Given the description of an element on the screen output the (x, y) to click on. 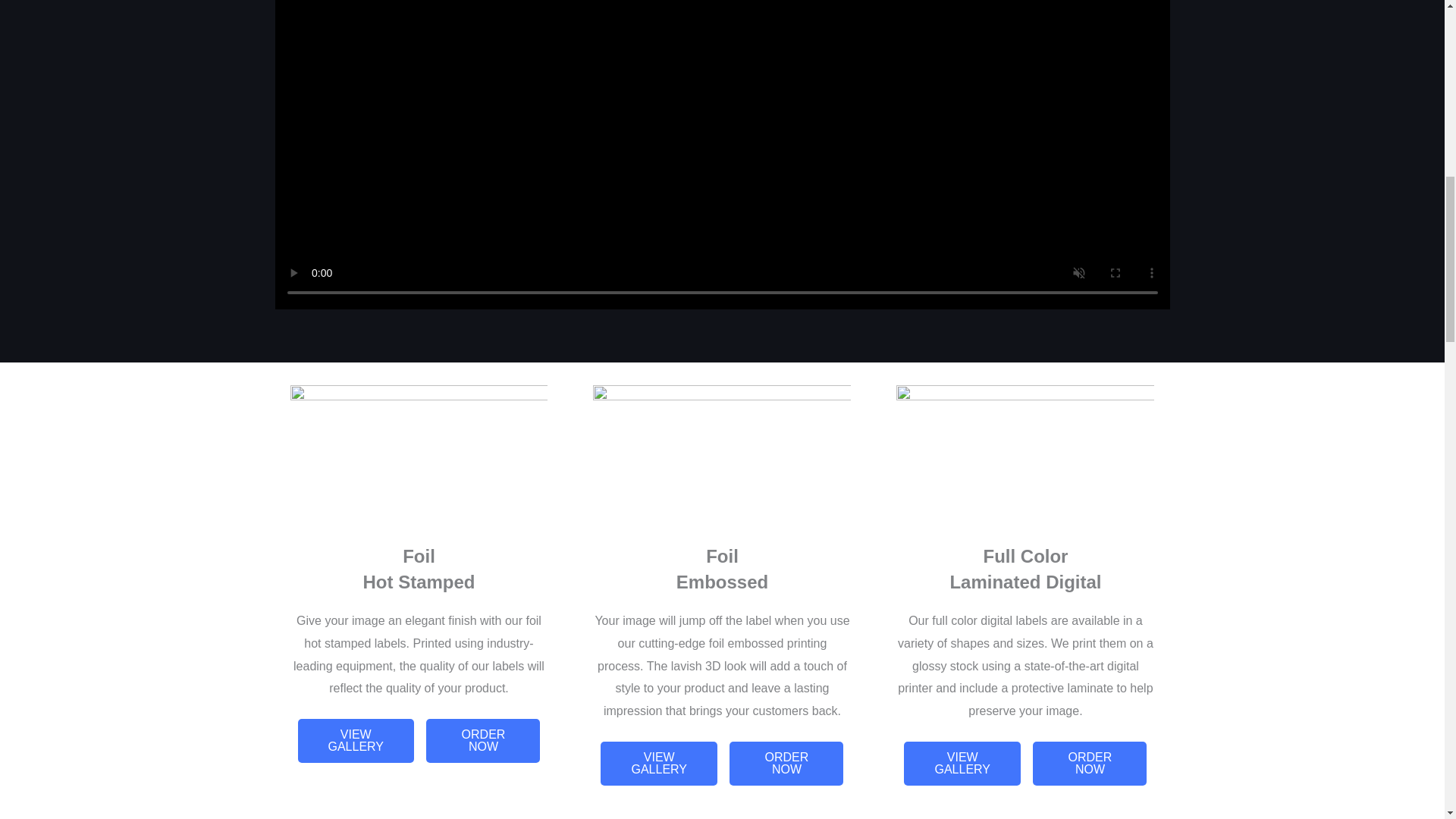
VIEW GALLERY (658, 763)
ORDER NOW (1089, 763)
VIEW GALLERY (962, 763)
ORDER NOW (483, 740)
VIEW GALLERY (355, 740)
ORDER NOW (786, 763)
